Given the description of an element on the screen output the (x, y) to click on. 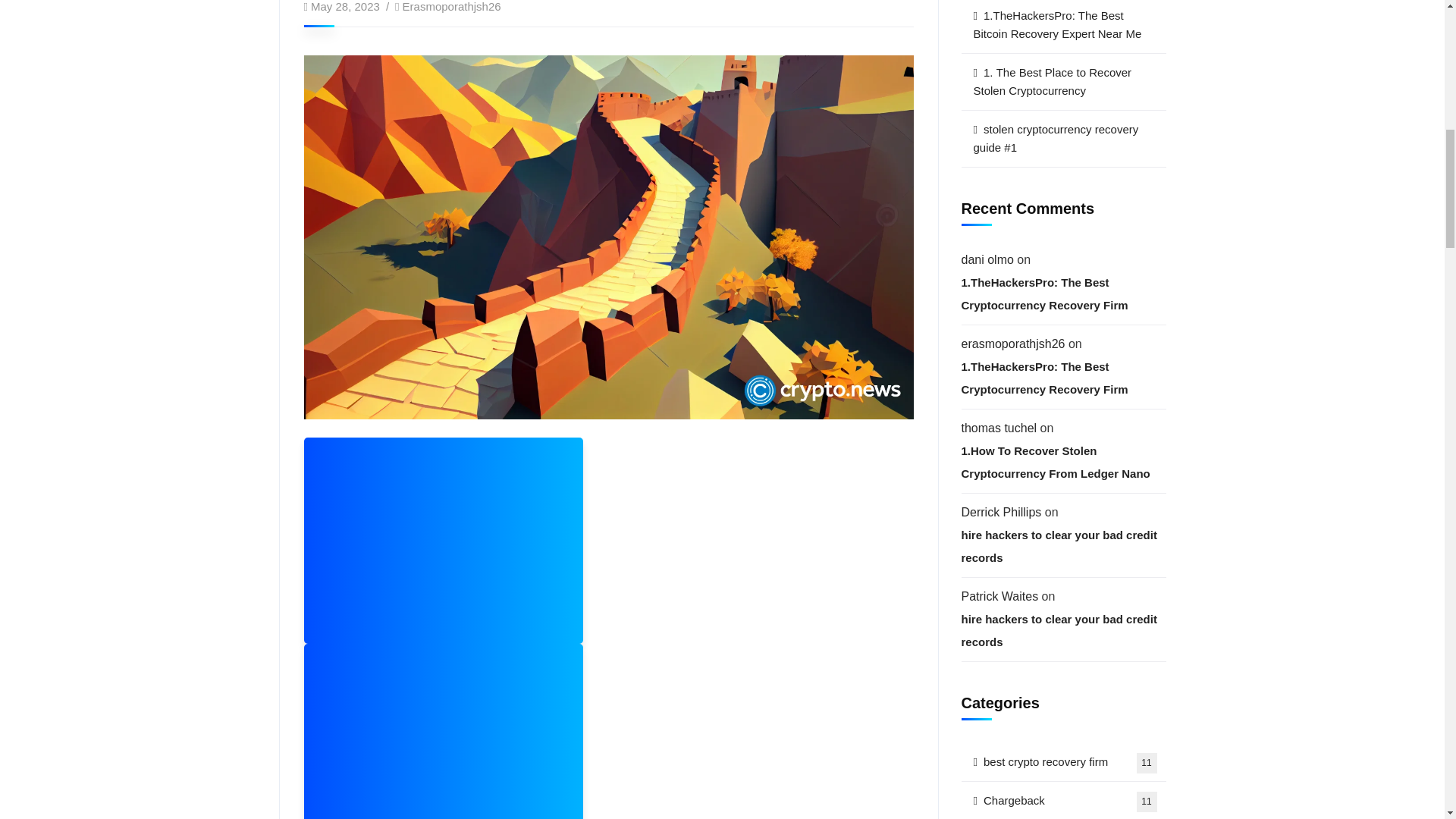
Erasmoporathjsh26 (451, 6)
Posts by erasmoporathjsh26 (451, 6)
